Given the description of an element on the screen output the (x, y) to click on. 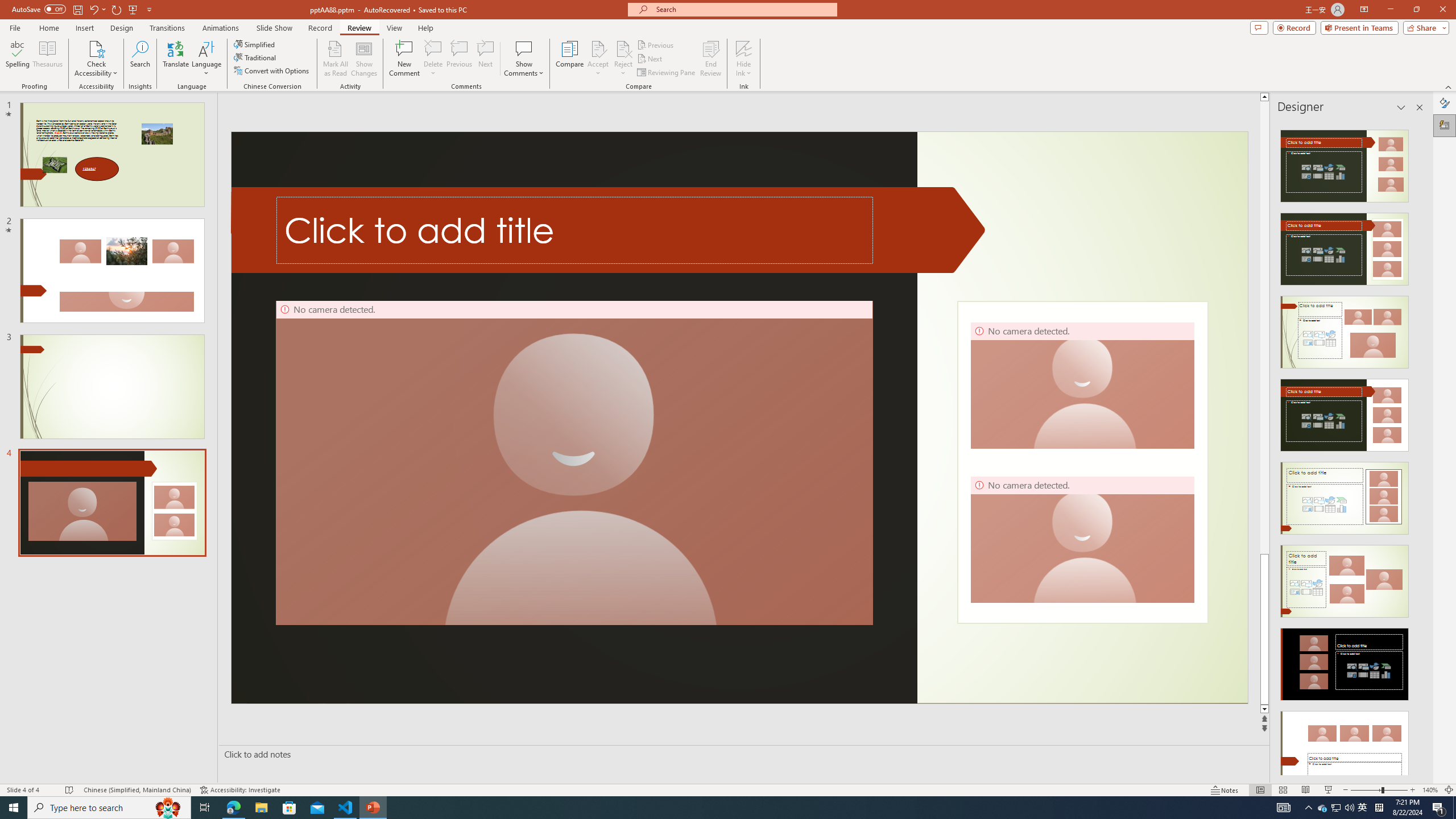
Reject Change (622, 48)
Format Background (1444, 102)
Previous (655, 44)
Class: NetUIScrollBar (1418, 447)
Recommended Design: Design Idea (1344, 162)
End Review (710, 58)
